Given the description of an element on the screen output the (x, y) to click on. 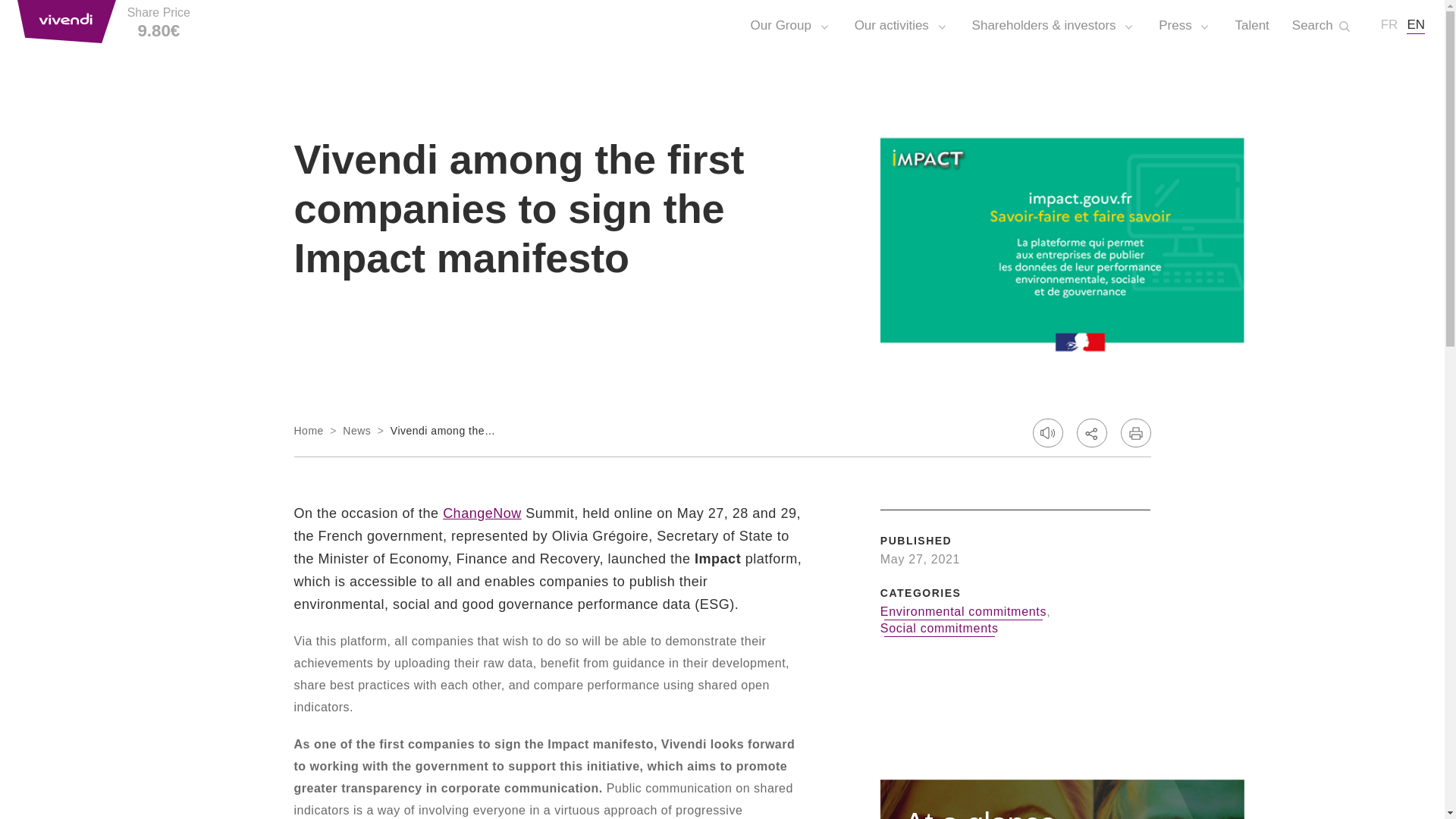
Home (308, 430)
News (356, 430)
News (356, 430)
Home (308, 430)
Our Group (791, 25)
Vivendi (66, 21)
